Given the description of an element on the screen output the (x, y) to click on. 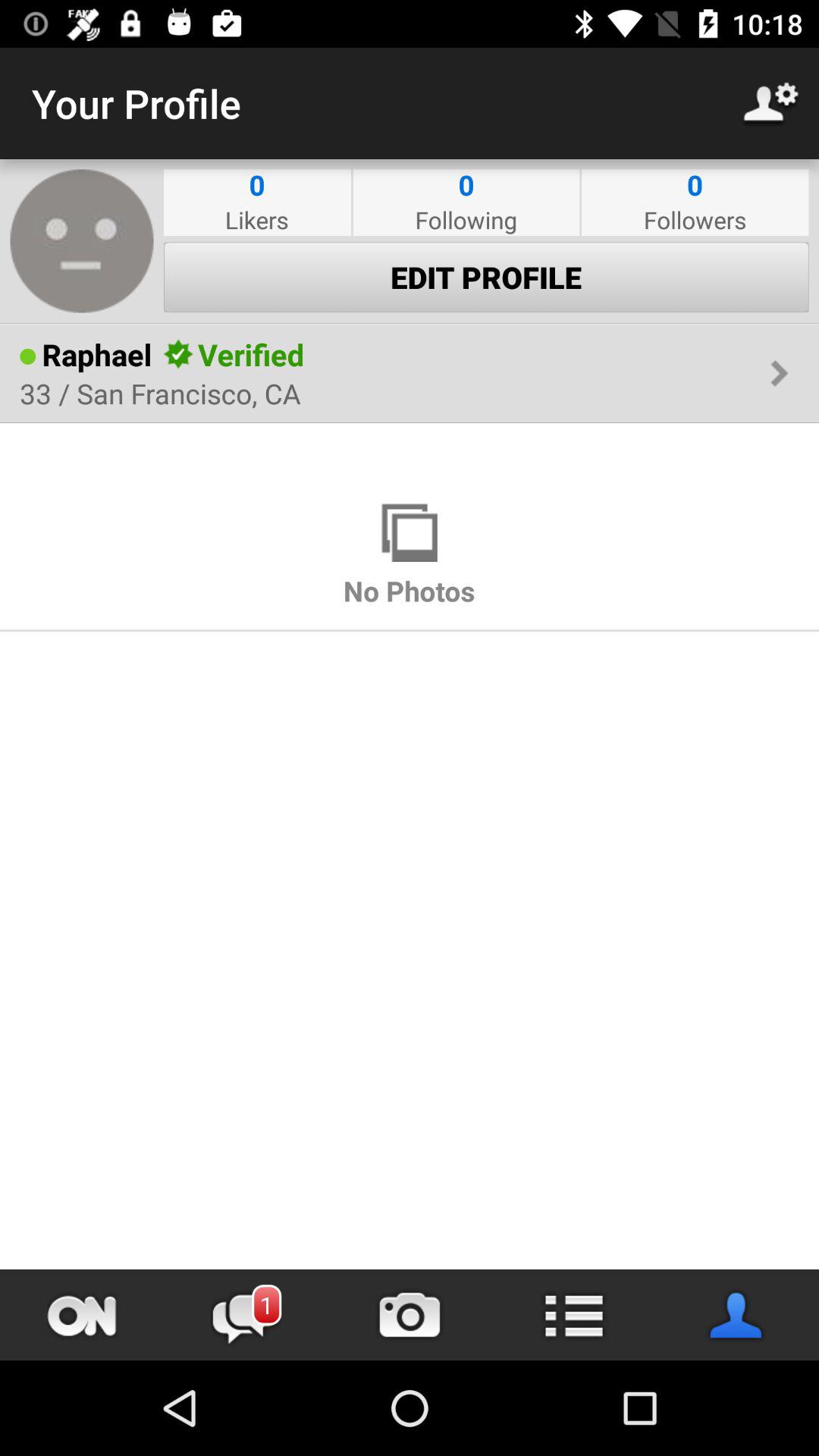
launch the item to the left of the raphael icon (27, 356)
